Given the description of an element on the screen output the (x, y) to click on. 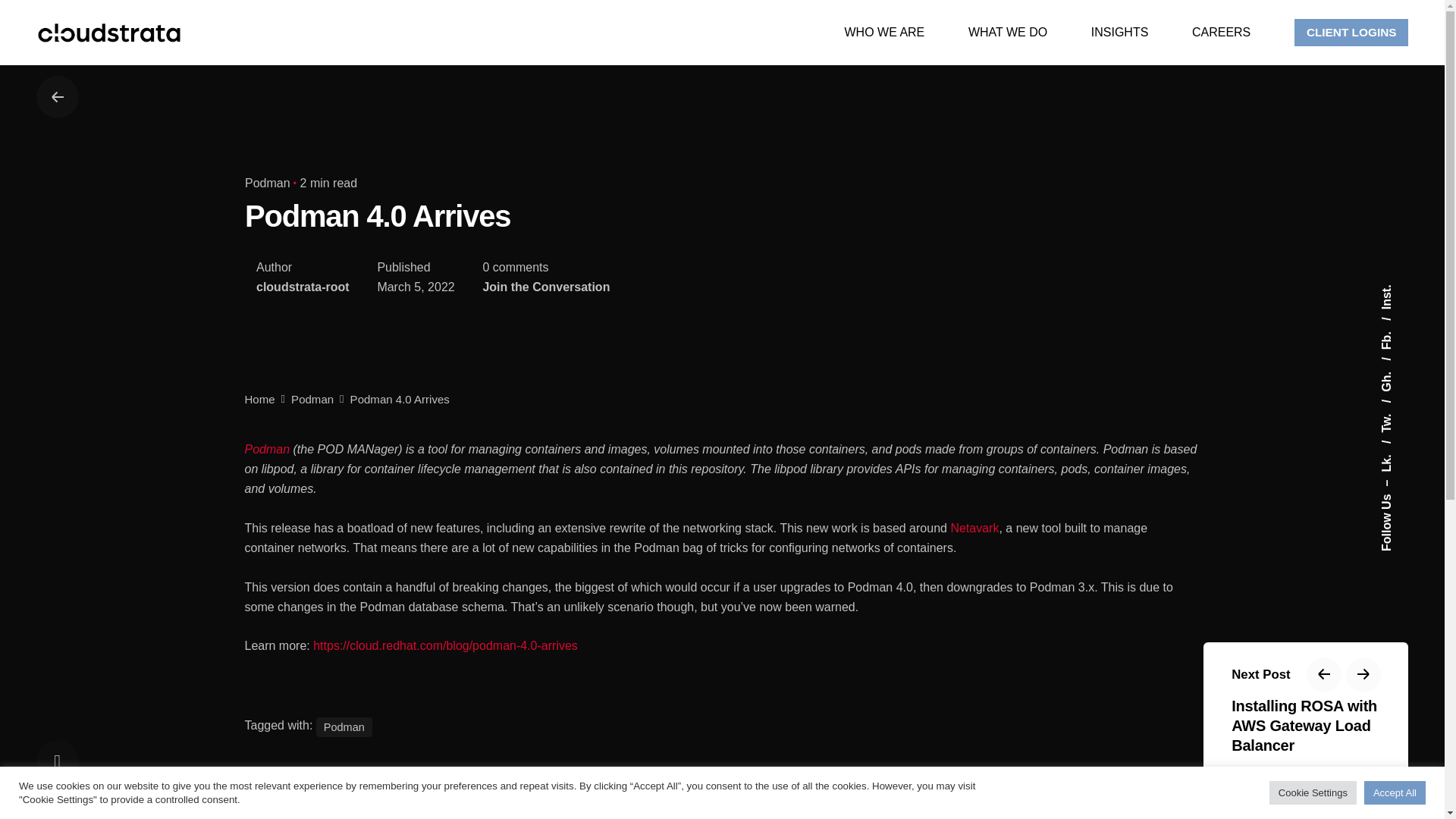
Fb. (1396, 323)
Join the Conversation (545, 286)
Gh. (1397, 363)
Podman (266, 182)
INSIGHTS (1119, 32)
Podman (312, 399)
Podman (344, 727)
Tw. (1396, 405)
Installing ROSA with AWS Gateway Load Balancer (1305, 725)
Podman (266, 449)
WHO WE ARE (884, 32)
Lk. (1396, 446)
CAREERS (1221, 32)
Inst. (1392, 290)
CLIENT LOGINS (1351, 31)
